Given the description of an element on the screen output the (x, y) to click on. 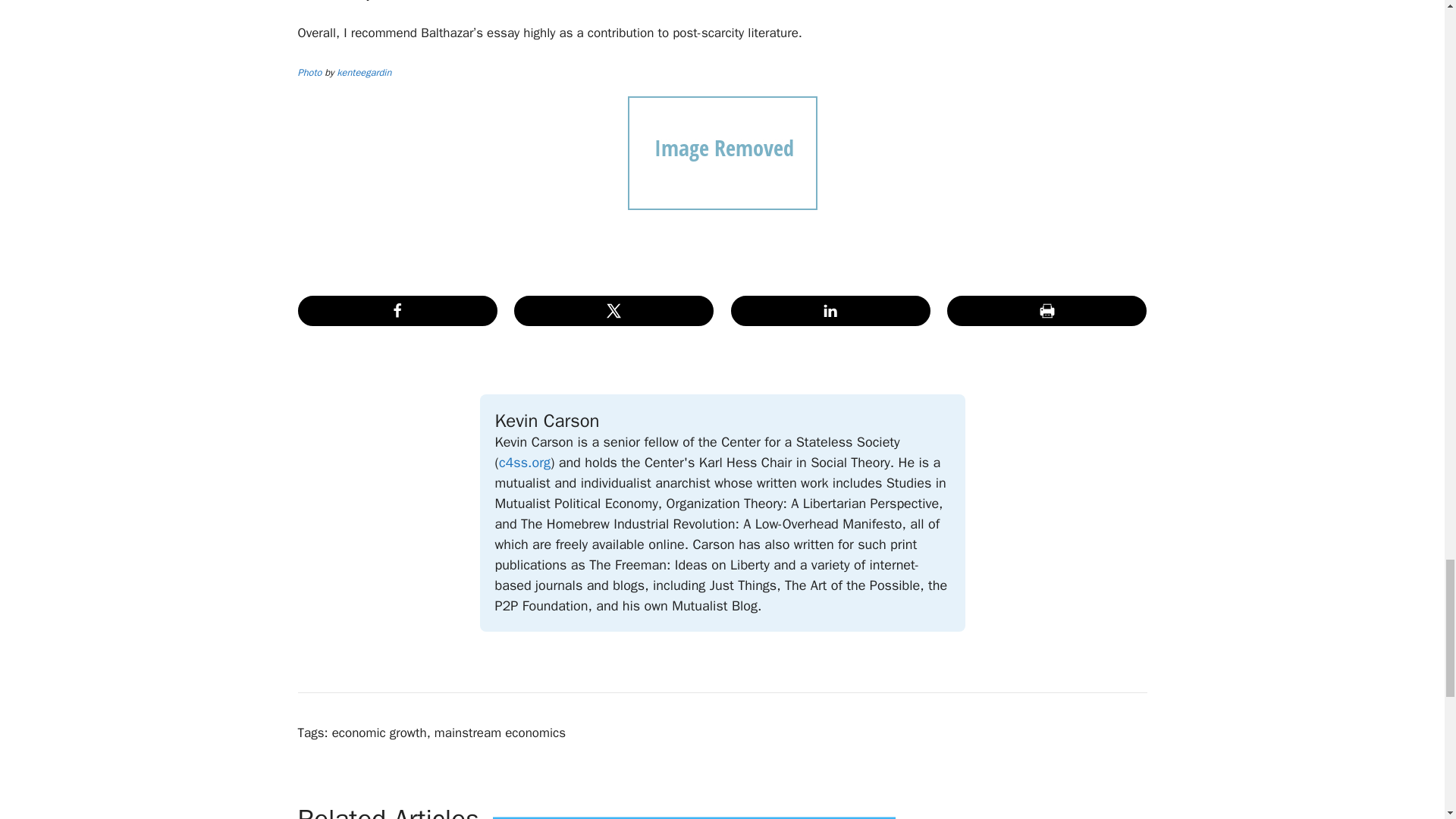
Share on LinkedIn (830, 310)
Share on Facebook (396, 310)
Image inserted by the ImageInject WordPress plugin (309, 72)
Print this webpage (1047, 310)
Share on X (613, 310)
